Given the description of an element on the screen output the (x, y) to click on. 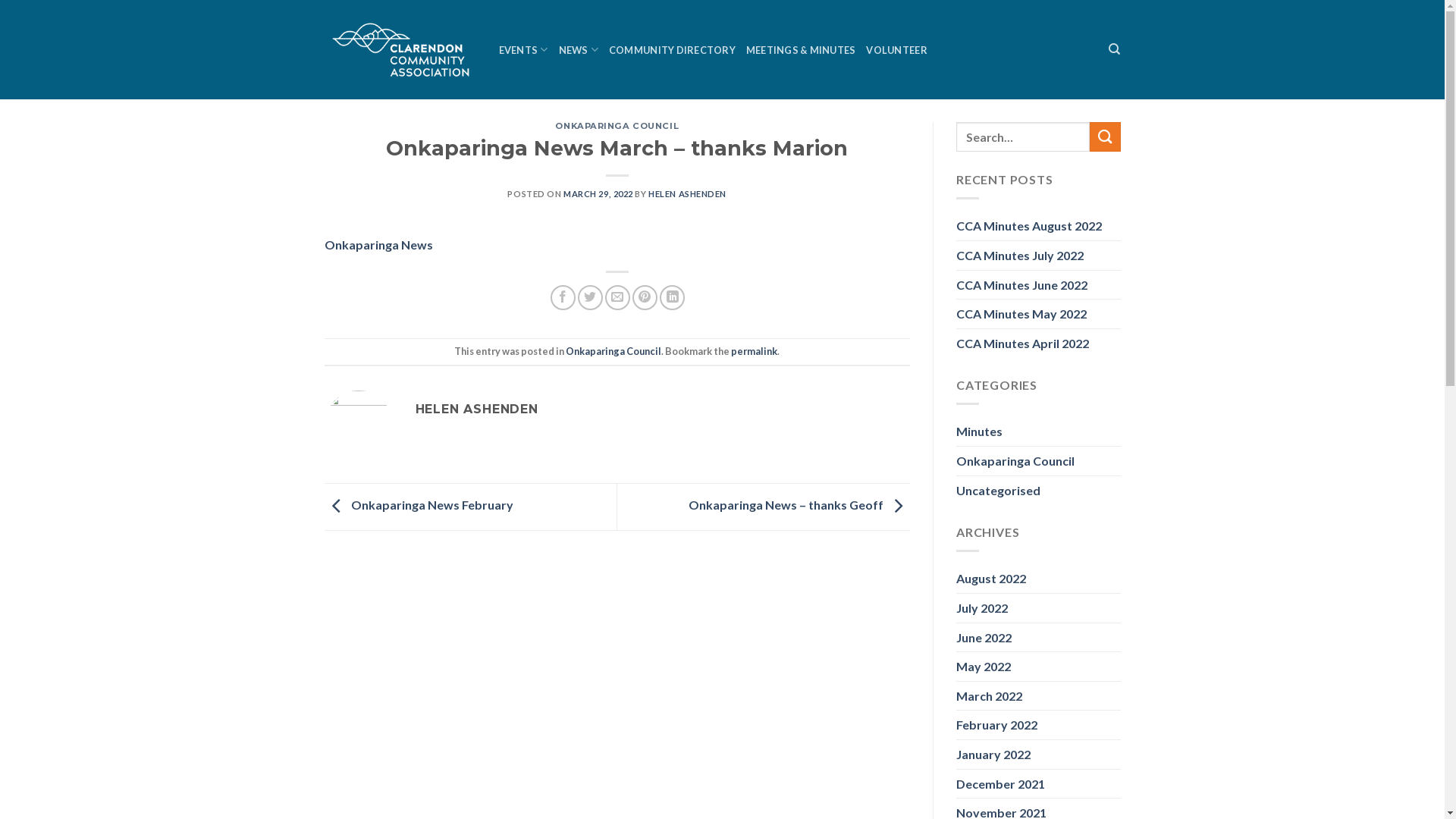
Onkaparinga News February Element type: text (418, 505)
Onkaparinga Council Element type: text (1015, 460)
CCA Minutes June 2022 Element type: text (1021, 284)
August 2022 Element type: text (991, 578)
Onkaparinga Council Element type: text (613, 351)
NEWS Element type: text (577, 49)
permalink Element type: text (754, 351)
December 2021 Element type: text (1000, 783)
MARCH 29, 2022 Element type: text (598, 193)
CCA Minutes April 2022 Element type: text (1022, 343)
Uncategorised Element type: text (998, 490)
ONKAPARINGA COUNCIL Element type: text (616, 125)
February 2022 Element type: text (996, 724)
Share on Facebook Element type: hover (562, 297)
MEETINGS & MINUTES Element type: text (801, 49)
March 2022 Element type: text (989, 695)
Minutes Element type: text (979, 431)
July 2022 Element type: text (981, 607)
VOLUNTEER Element type: text (896, 49)
HELEN ASHENDEN Element type: text (687, 193)
Onkaparinga News Element type: text (378, 244)
Share on Twitter Element type: hover (589, 297)
Share on LinkedIn Element type: hover (671, 297)
CCA Minutes August 2022 Element type: text (1028, 225)
Pin on Pinterest Element type: hover (644, 297)
May 2022 Element type: text (983, 666)
CCA Minutes May 2022 Element type: text (1021, 313)
CCA Minutes July 2022 Element type: text (1019, 255)
Email to a Friend Element type: hover (617, 297)
Clarendon Community Association Element type: hover (400, 49)
EVENTS Element type: text (523, 49)
January 2022 Element type: text (993, 754)
COMMUNITY DIRECTORY Element type: text (671, 49)
June 2022 Element type: text (983, 637)
